Given the description of an element on the screen output the (x, y) to click on. 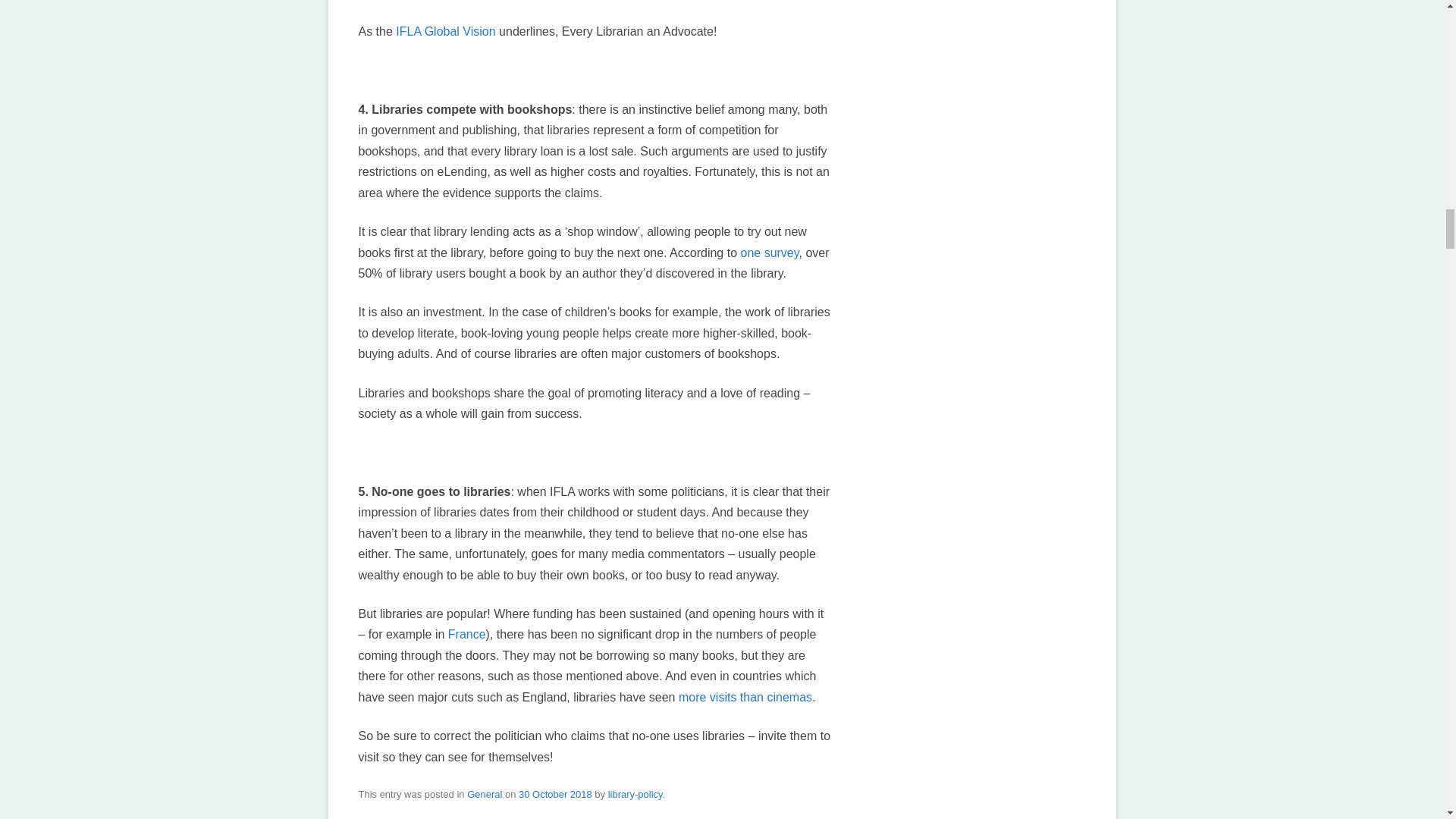
View all posts by library-policy (635, 794)
22:40 (555, 794)
